Given the description of an element on the screen output the (x, y) to click on. 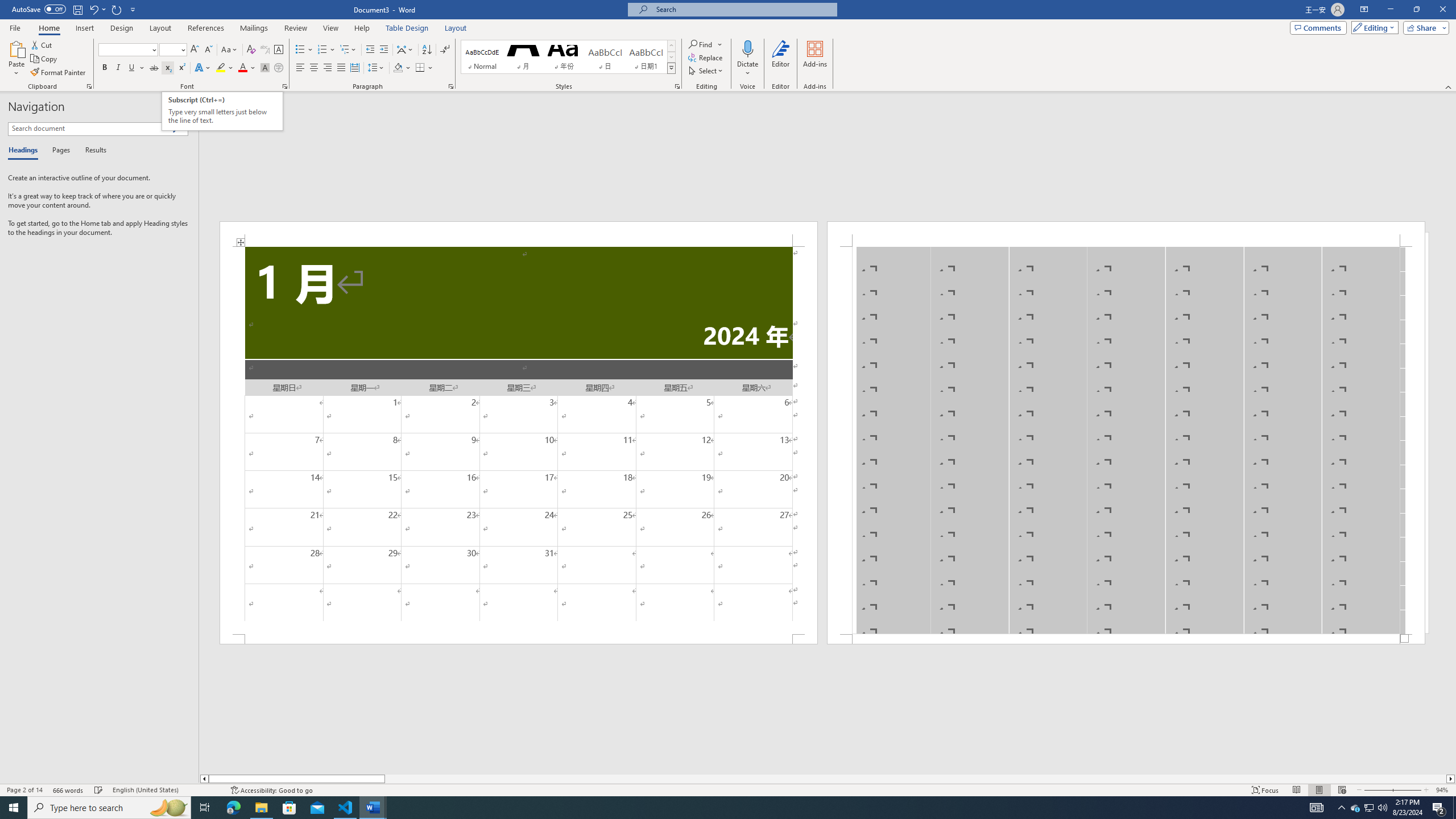
Italic (118, 67)
Strikethrough (154, 67)
Font... (285, 85)
Distributed (354, 67)
Page right (914, 778)
Text Highlight Color Yellow (220, 67)
